Given the description of an element on the screen output the (x, y) to click on. 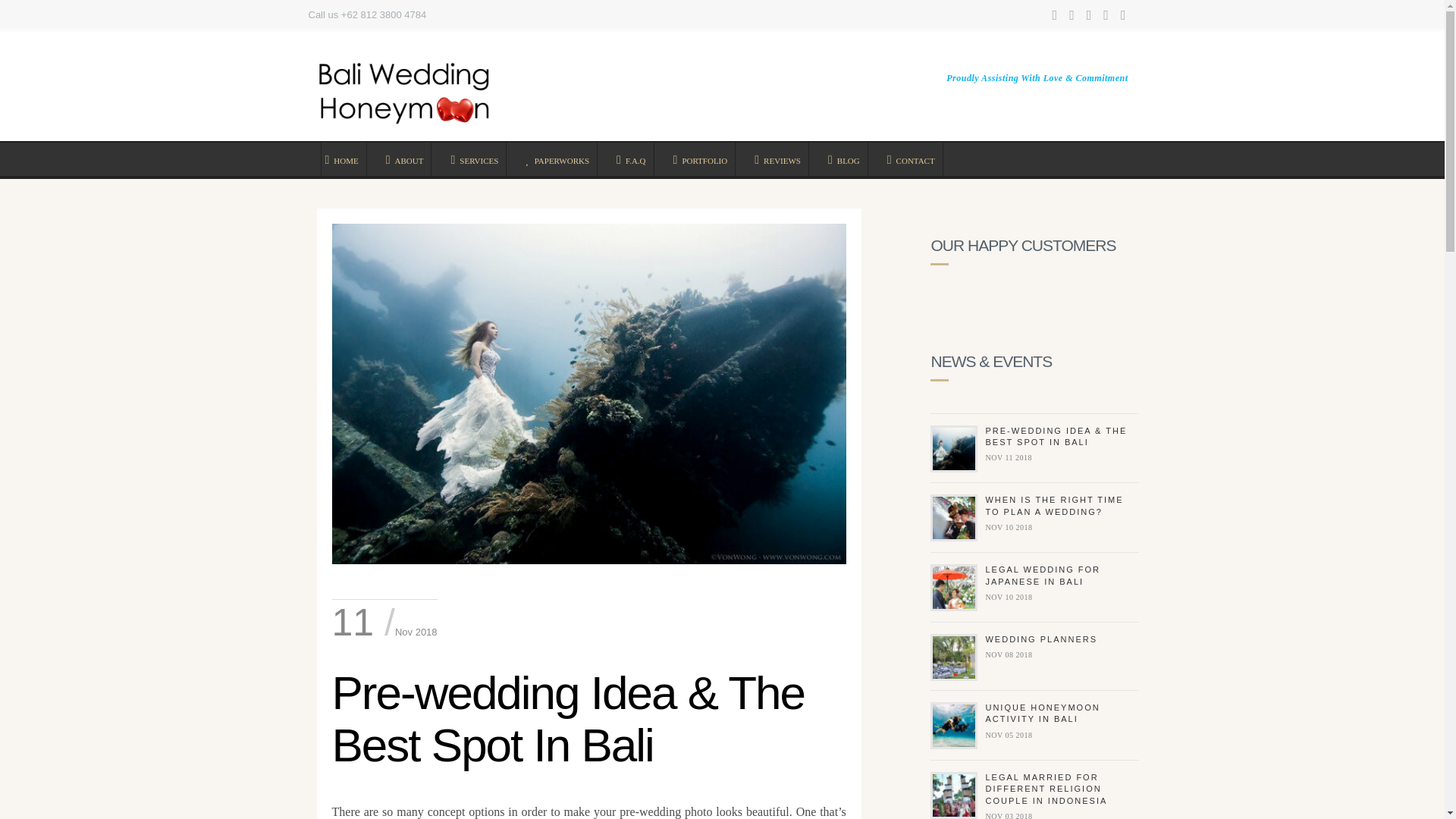
SERVICES (476, 159)
HOME (343, 159)
ABOUT (406, 159)
